Given the description of an element on the screen output the (x, y) to click on. 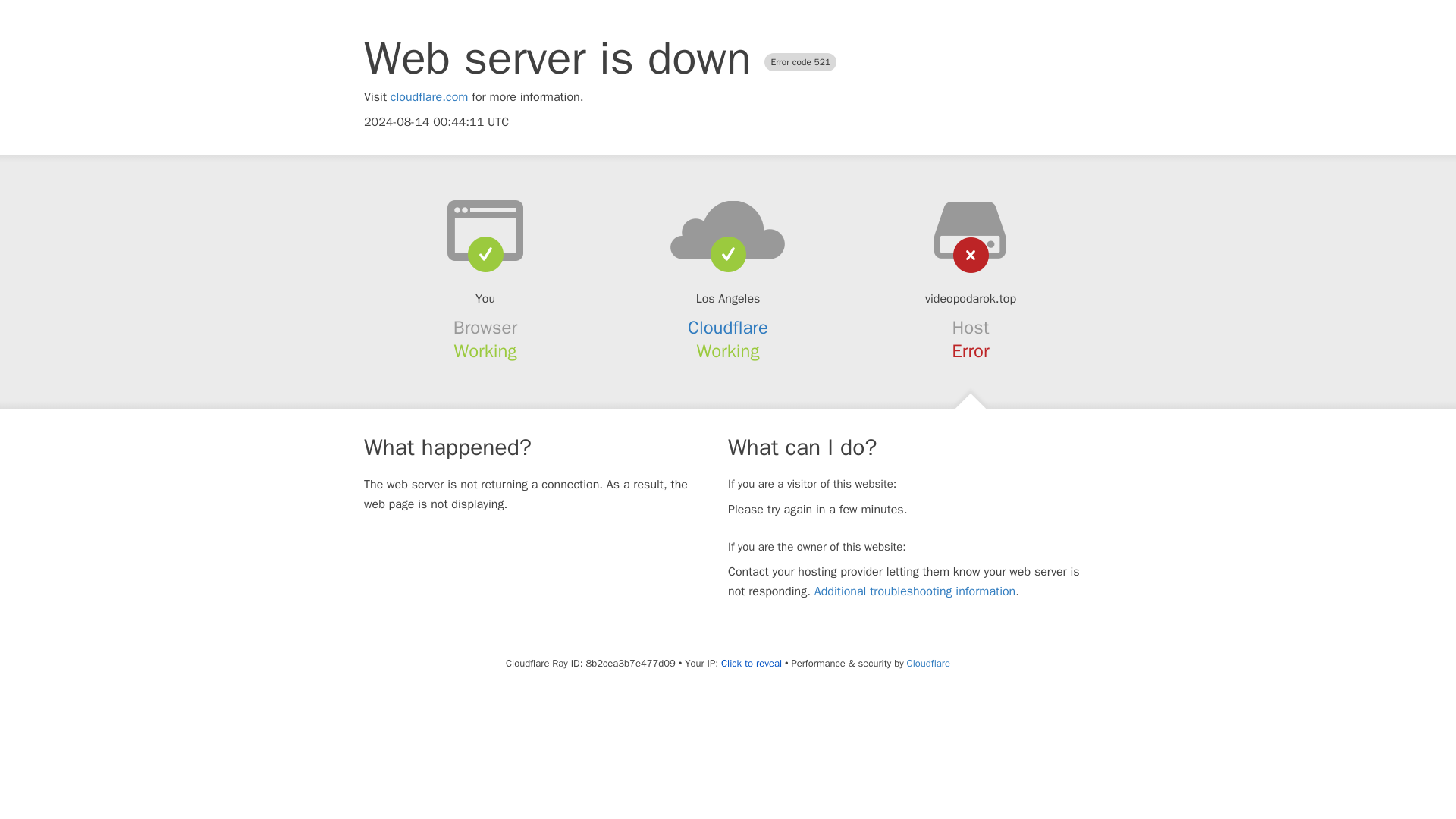
Additional troubleshooting information (913, 590)
Click to reveal (750, 663)
Cloudflare (727, 327)
cloudflare.com (429, 96)
Cloudflare (928, 662)
